Given the description of an element on the screen output the (x, y) to click on. 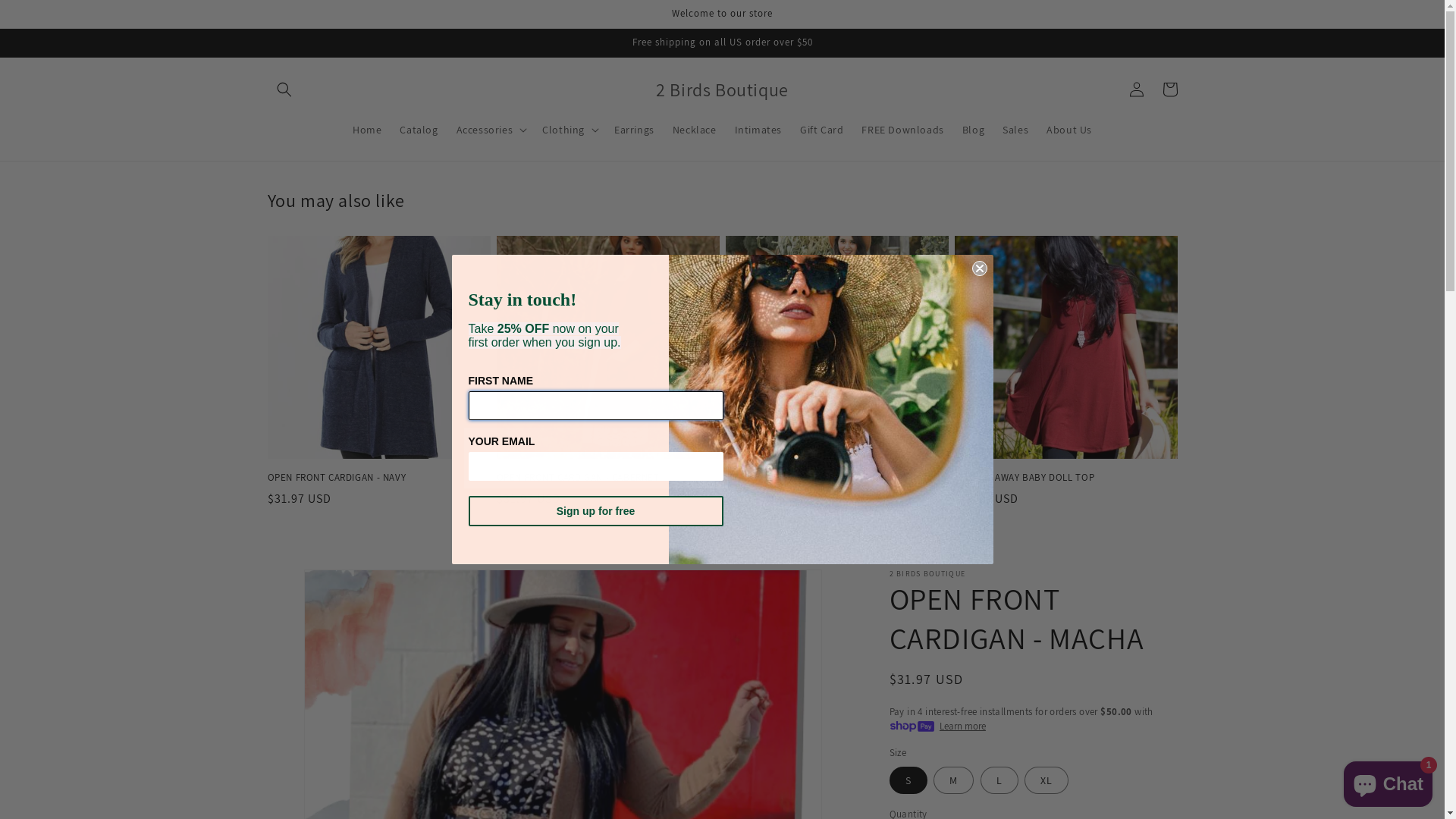
Close dialog 1 Element type: text (979, 268)
Cart Element type: text (1169, 89)
2 Birds Boutique Element type: text (722, 88)
Catalog Element type: text (418, 129)
Sign up for free Element type: text (595, 510)
Skip to product information Element type: text (312, 586)
About Us Element type: text (1069, 129)
Earrings Element type: text (634, 129)
Home Element type: text (366, 129)
Sales Element type: text (1015, 129)
FREE Downloads Element type: text (902, 129)
OPEN FRONT CARDIGAN - NAVY Element type: text (377, 477)
Necklace Element type: text (694, 129)
TAKE ME AWAY BABY DOLL TOP Element type: text (1064, 477)
Gift Card Element type: text (821, 129)
Blog Element type: text (973, 129)
Log in Element type: text (1135, 89)
OPEN FRONT CARDIGAN - ASH MUSTARD Element type: text (835, 477)
Shopify online store chat Element type: hover (1388, 780)
Intimates Element type: text (757, 129)
OPEN FRONT CARDIGAN - CABERNET Element type: text (606, 477)
Submit Element type: text (21, 7)
